Given the description of an element on the screen output the (x, y) to click on. 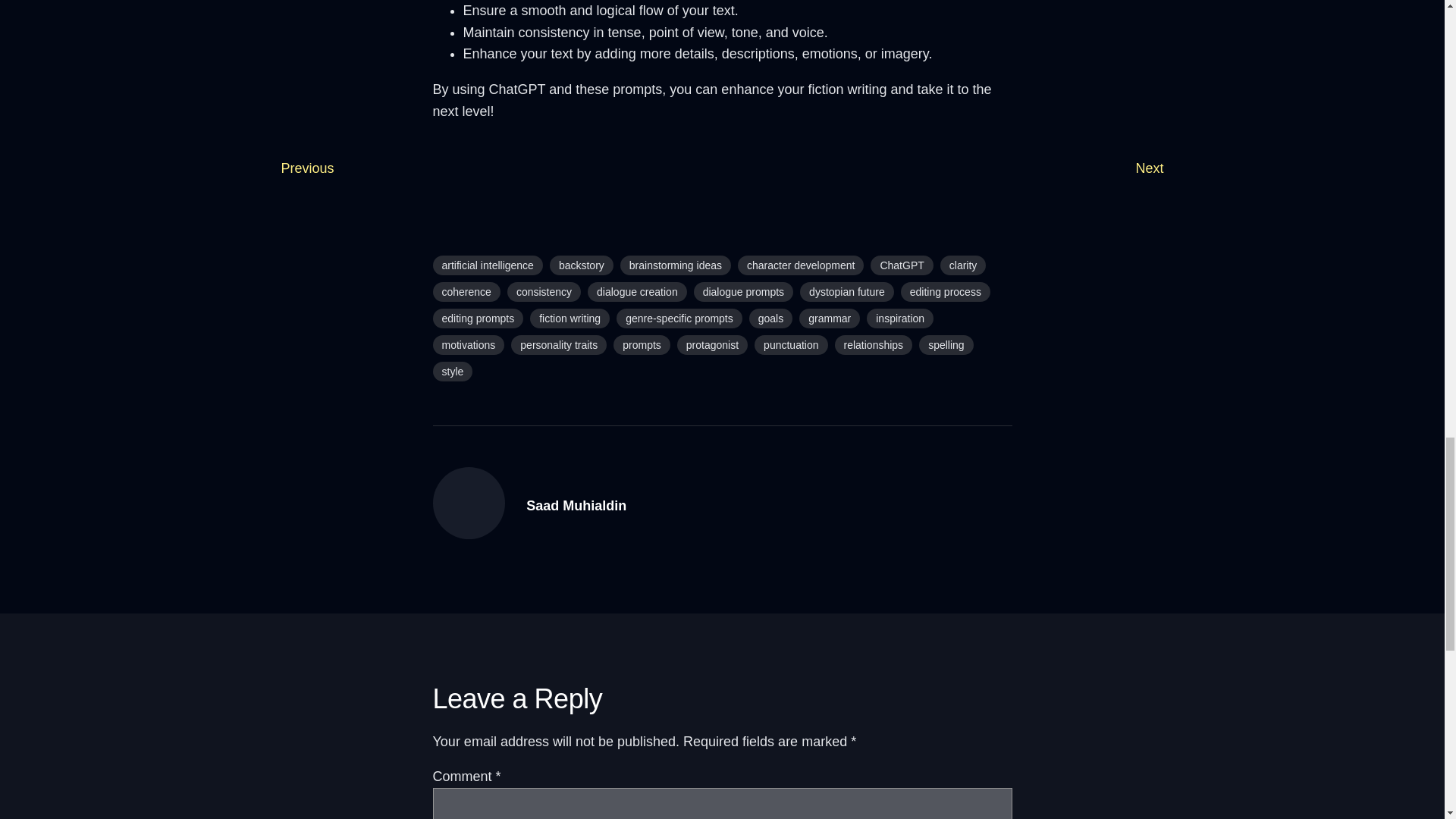
prompts (640, 344)
consistency (543, 291)
inspiration (899, 318)
punctuation (790, 344)
dialogue creation (637, 291)
relationships (873, 344)
goals (770, 318)
editing prompts (477, 318)
fiction writing (569, 318)
brainstorming ideas (675, 265)
backstory (581, 265)
coherence (465, 291)
character development (800, 265)
style (451, 371)
protagonist (712, 344)
